Given the description of an element on the screen output the (x, y) to click on. 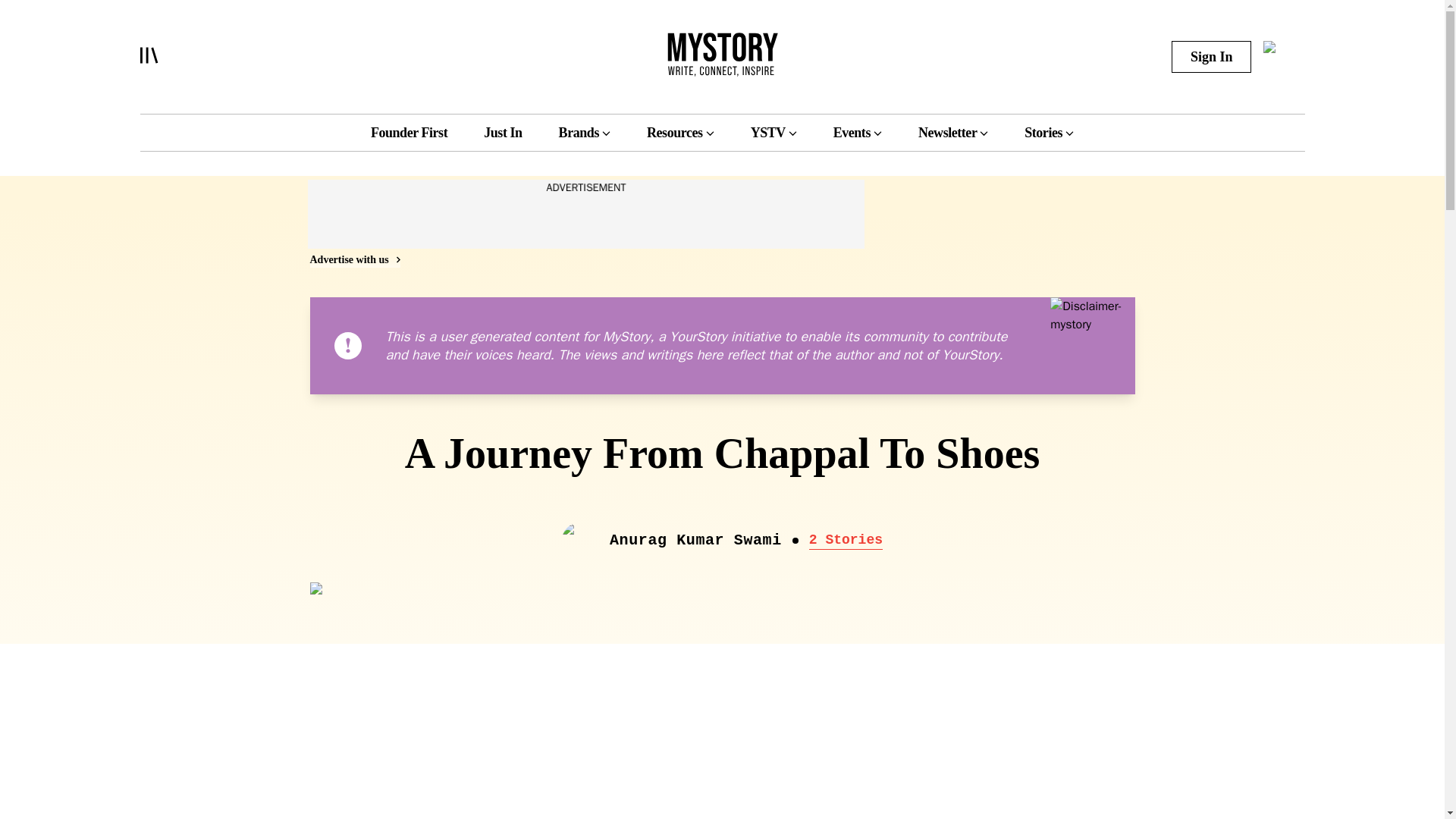
Just In (502, 132)
Advertise with us (353, 259)
2 Stories (845, 539)
Anurag Kumar Swami (695, 539)
Founder First (408, 132)
